Given the description of an element on the screen output the (x, y) to click on. 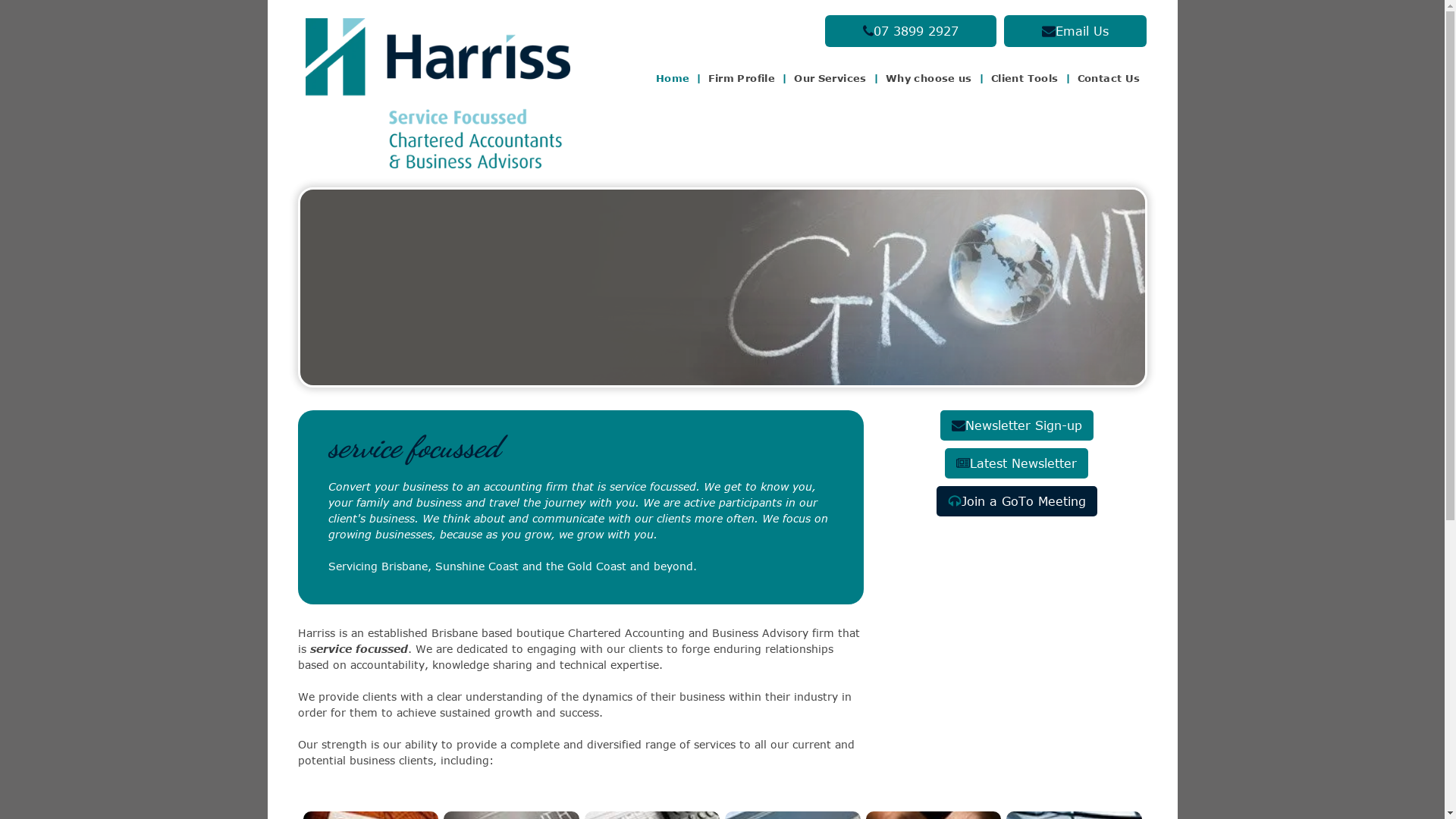
Join a GoTo Meeting Element type: text (1016, 501)
Email Us Element type: text (1071, 31)
Our Services Element type: text (830, 78)
Why choose us Element type: text (928, 78)
Client Tools Element type: text (1024, 78)
Firm Profile Element type: text (741, 78)
Home Element type: text (672, 78)
Newsletter Sign-up Element type: text (1016, 429)
Contact Us Element type: text (1108, 78)
Latest Newsletter Element type: text (1016, 467)
07 3899 2927 Element type: text (906, 31)
